Given the description of an element on the screen output the (x, y) to click on. 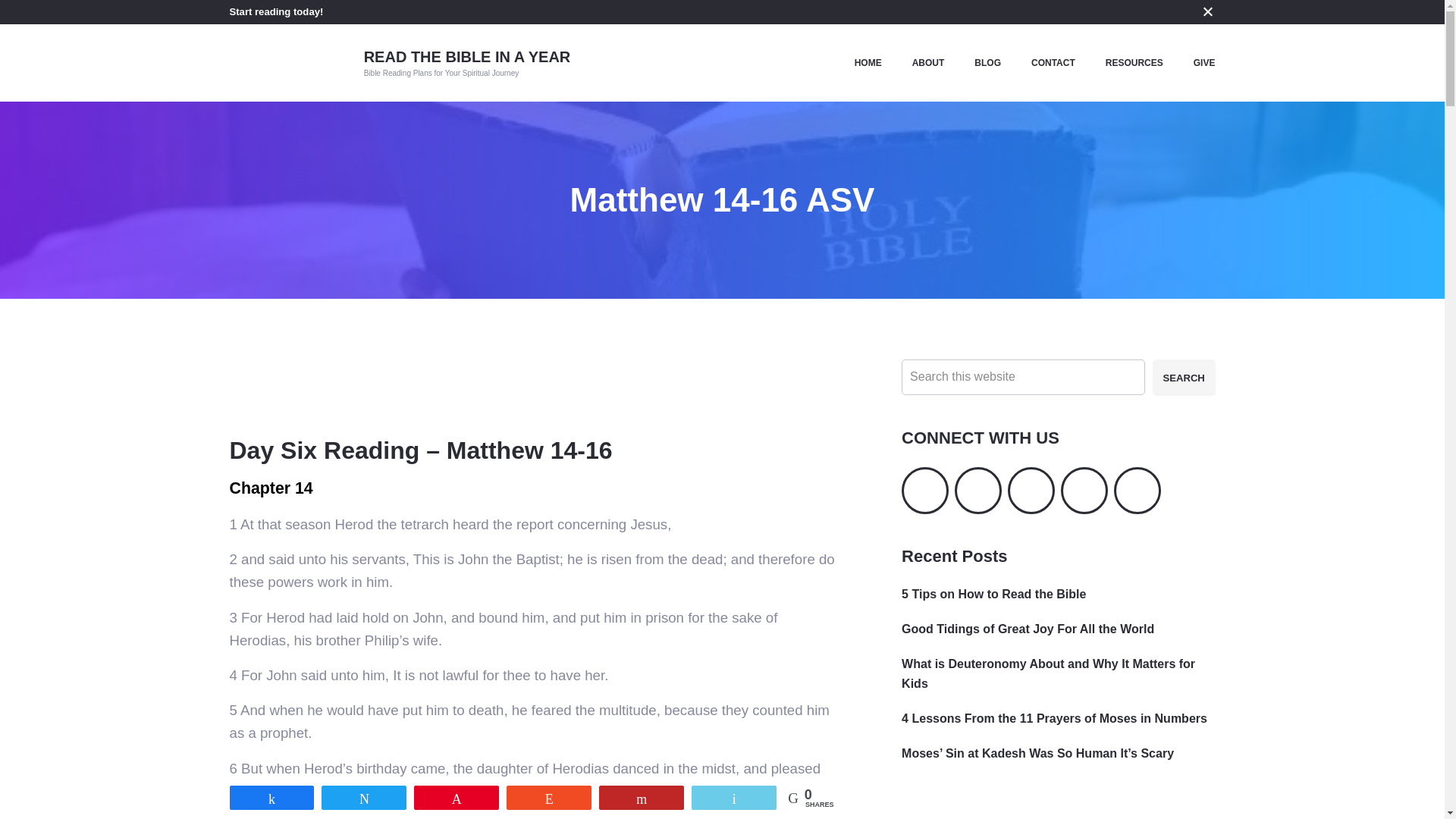
4 Lessons From the 11 Prayers of Moses in Numbers (1054, 717)
BLOG (987, 62)
READ THE BIBLE IN A YEAR (467, 56)
Advertisement (504, 393)
CONTACT (1053, 62)
Search (1184, 376)
RESOURCES (1133, 62)
CLOSE (1206, 11)
What is Deuteronomy About and Why It Matters for Kids (1048, 673)
Search (1184, 376)
Search (1184, 376)
Advertisement (1057, 806)
HOME (868, 62)
Good Tidings of Great Joy For All the World (1027, 628)
